Given the description of an element on the screen output the (x, y) to click on. 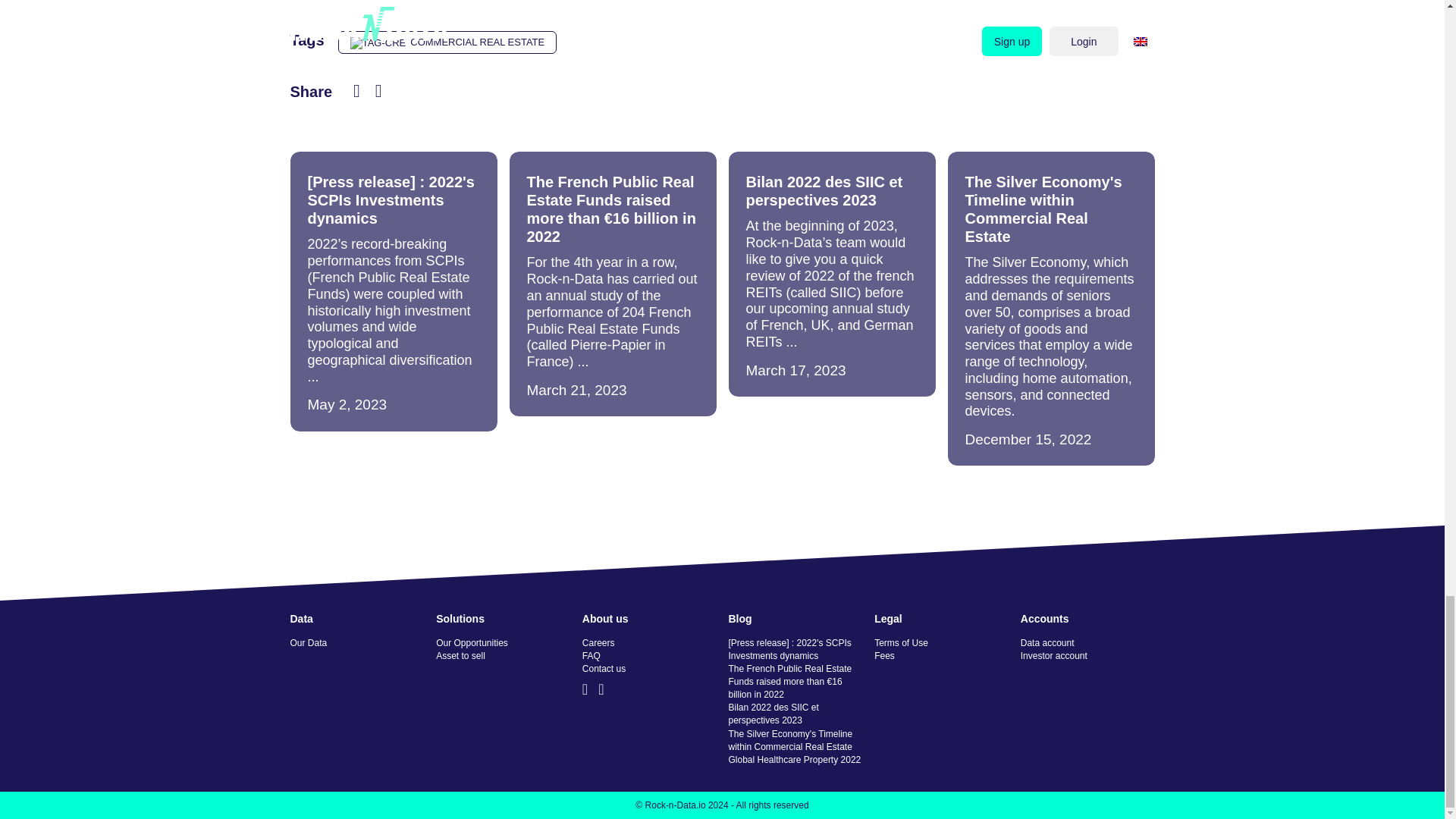
COMMERCIAL REAL ESTATE (447, 42)
Our Opportunities (502, 643)
Commercial Real Estate (447, 42)
Contact us (649, 668)
Asset to sell (502, 656)
FAQ (649, 656)
Careers (649, 643)
Our Data (356, 643)
